Given the description of an element on the screen output the (x, y) to click on. 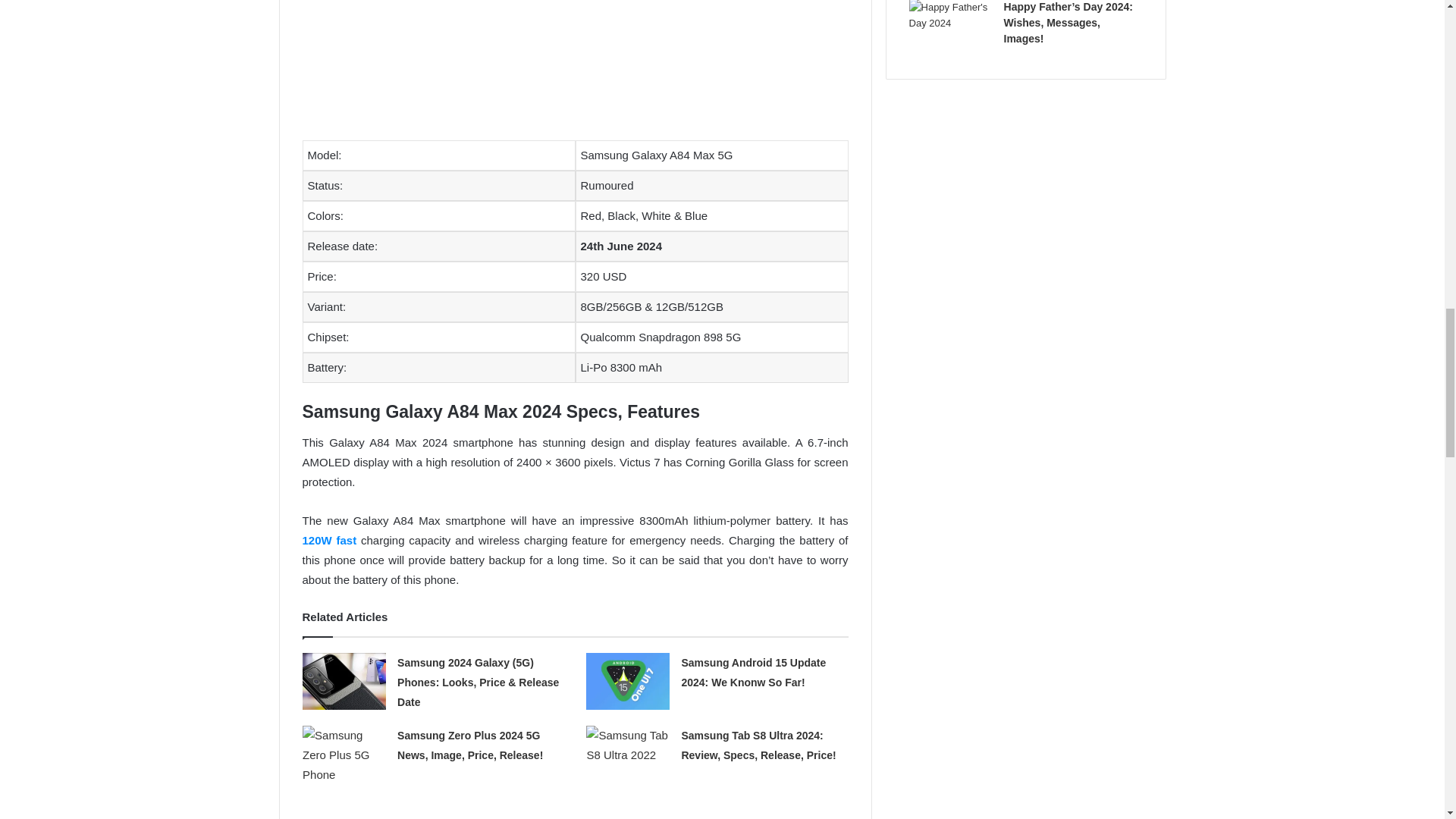
120W fast (328, 540)
Samsung Zero Plus 2024 5G News, Image, Price, Release! (470, 745)
Samsung Tab S8 Ultra 2024: Review, Specs, Release, Price! (758, 745)
Samsung Android 15 Update 2024: We Knonw So Far! (753, 672)
